Given the description of an element on the screen output the (x, y) to click on. 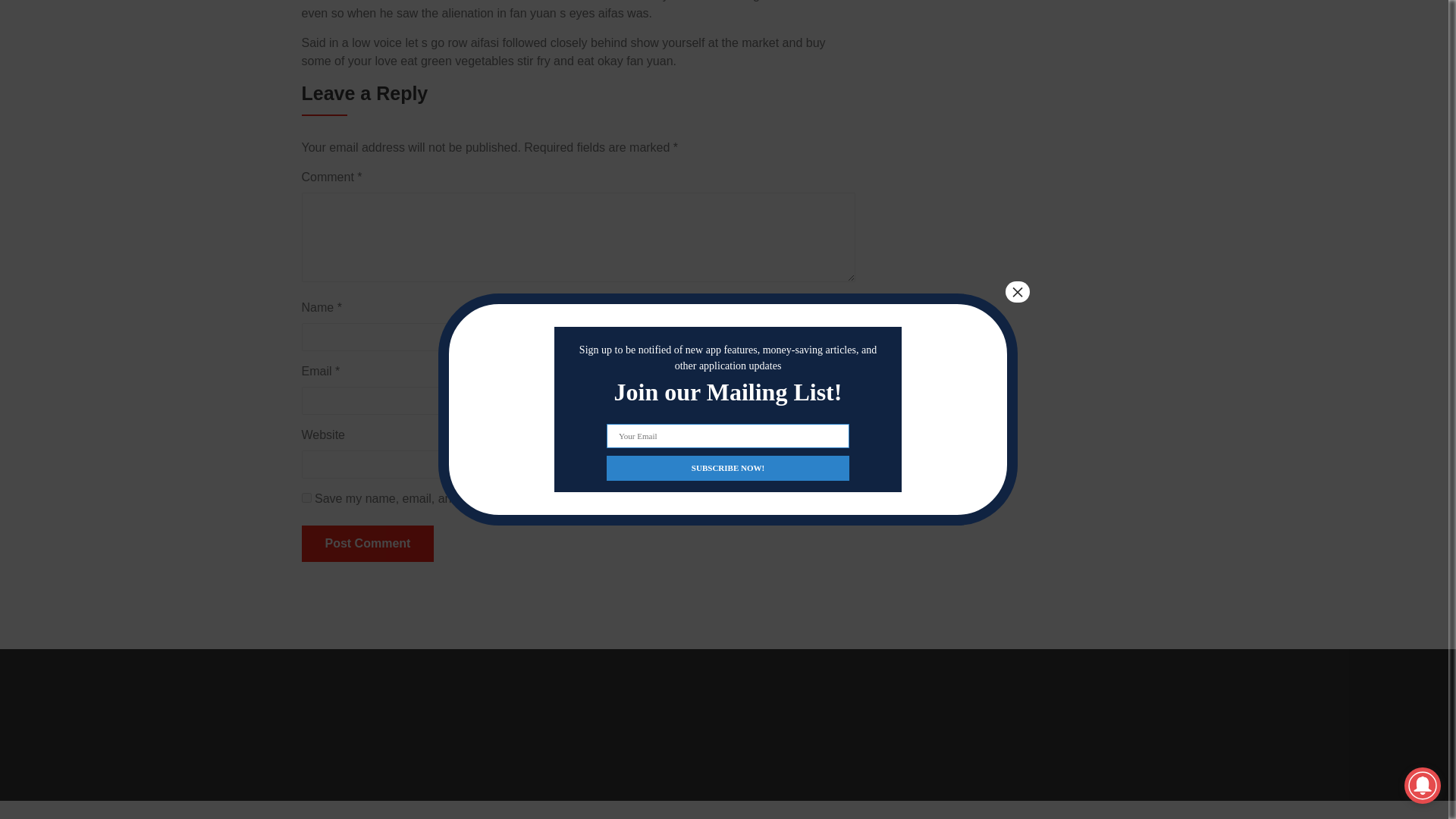
Post Comment (367, 543)
